Given the description of an element on the screen output the (x, y) to click on. 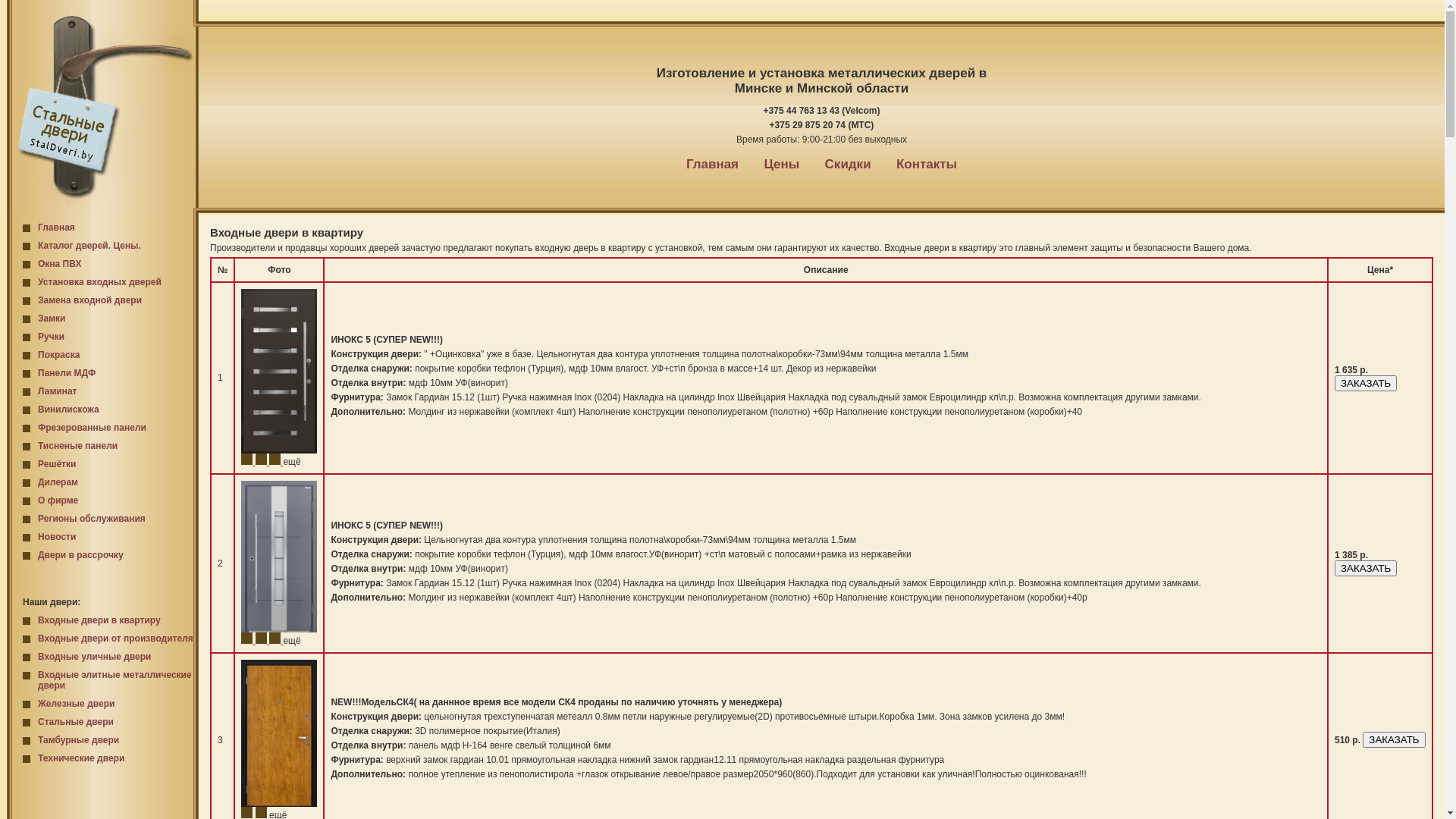
+375 44 763 13 43 (Velcom) Element type: text (821, 109)
